Given the description of an element on the screen output the (x, y) to click on. 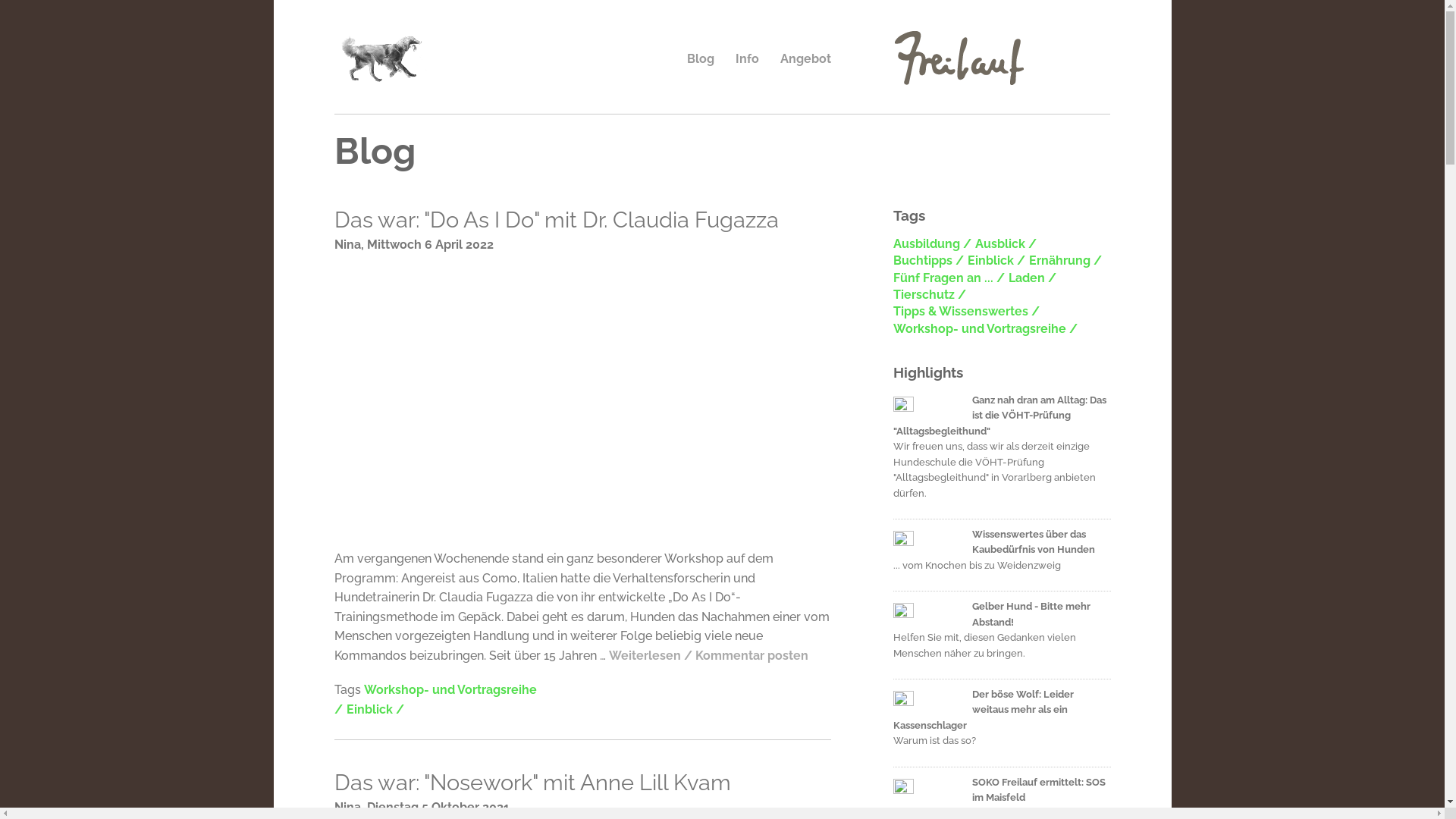
Laden / Element type: text (1032, 277)
Tipps & Wissenswertes / Element type: text (966, 311)
Ausblick / Element type: text (1005, 243)
Das war: "Do As I Do" mit Dr. Claudia Fugazza Element type: text (581, 219)
Einblick / Element type: text (996, 260)
Ausbildung / Element type: text (932, 243)
Buchtipps / Element type: text (928, 260)
Tierschutz / Element type: text (929, 294)
Workshop- und Vortragsreihe / Element type: text (985, 328)
Das war: "Nosework" mit Anne Lill Kvam Element type: text (581, 782)
Info Element type: text (747, 58)
SOKO Freilauf ermittelt: SOS im Maisfeld Element type: text (1001, 790)
Einblick / Element type: text (374, 709)
YouTube video player Element type: hover (545, 399)
Blog Element type: text (700, 58)
Gelber Hund - Bitte mehr Abstand! Element type: text (1001, 614)
Angebot Element type: text (805, 58)
Workshop- und Vortragsreihe / Element type: text (434, 699)
Weiterlesen / Kommentar posten Element type: text (707, 655)
